Given the description of an element on the screen output the (x, y) to click on. 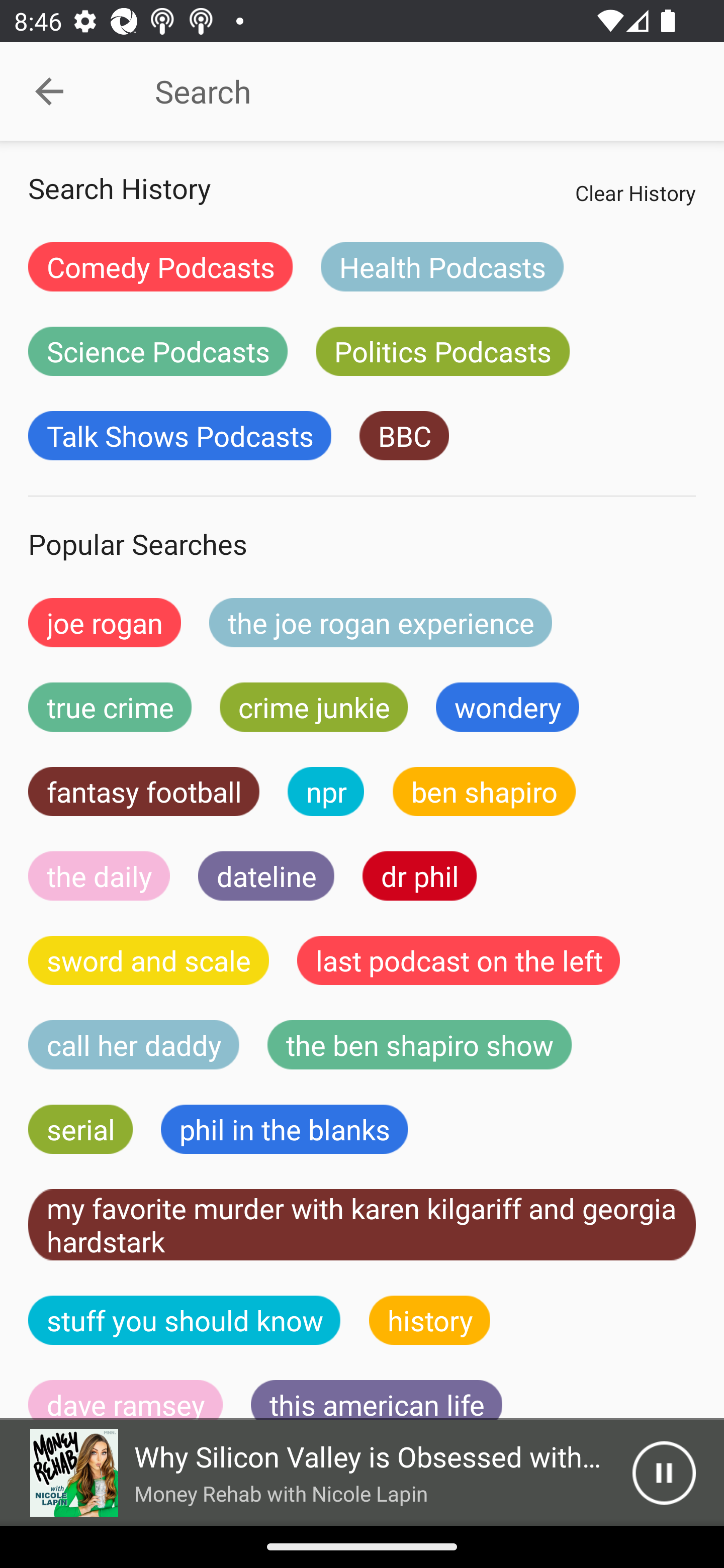
Collapse (49, 91)
Search (407, 91)
Clear History (634, 192)
Comedy Podcasts (160, 266)
Health Podcasts (441, 266)
Science Podcasts (157, 351)
Politics Podcasts (442, 351)
Talk Shows Podcasts (179, 435)
BBC (403, 435)
joe rogan (104, 622)
the joe rogan experience (380, 622)
true crime (109, 707)
crime junkie (313, 707)
wondery (507, 707)
fantasy football (143, 791)
npr (325, 791)
ben shapiro (483, 791)
the daily (99, 875)
dateline (266, 875)
dr phil (419, 875)
sword and scale (148, 960)
last podcast on the left (458, 960)
call her daddy (133, 1044)
the ben shapiro show (419, 1044)
serial (80, 1128)
phil in the blanks (283, 1128)
stuff you should know (184, 1320)
history (429, 1320)
dave ramsey (125, 1399)
this american life (376, 1399)
Pause (663, 1472)
